Given the description of an element on the screen output the (x, y) to click on. 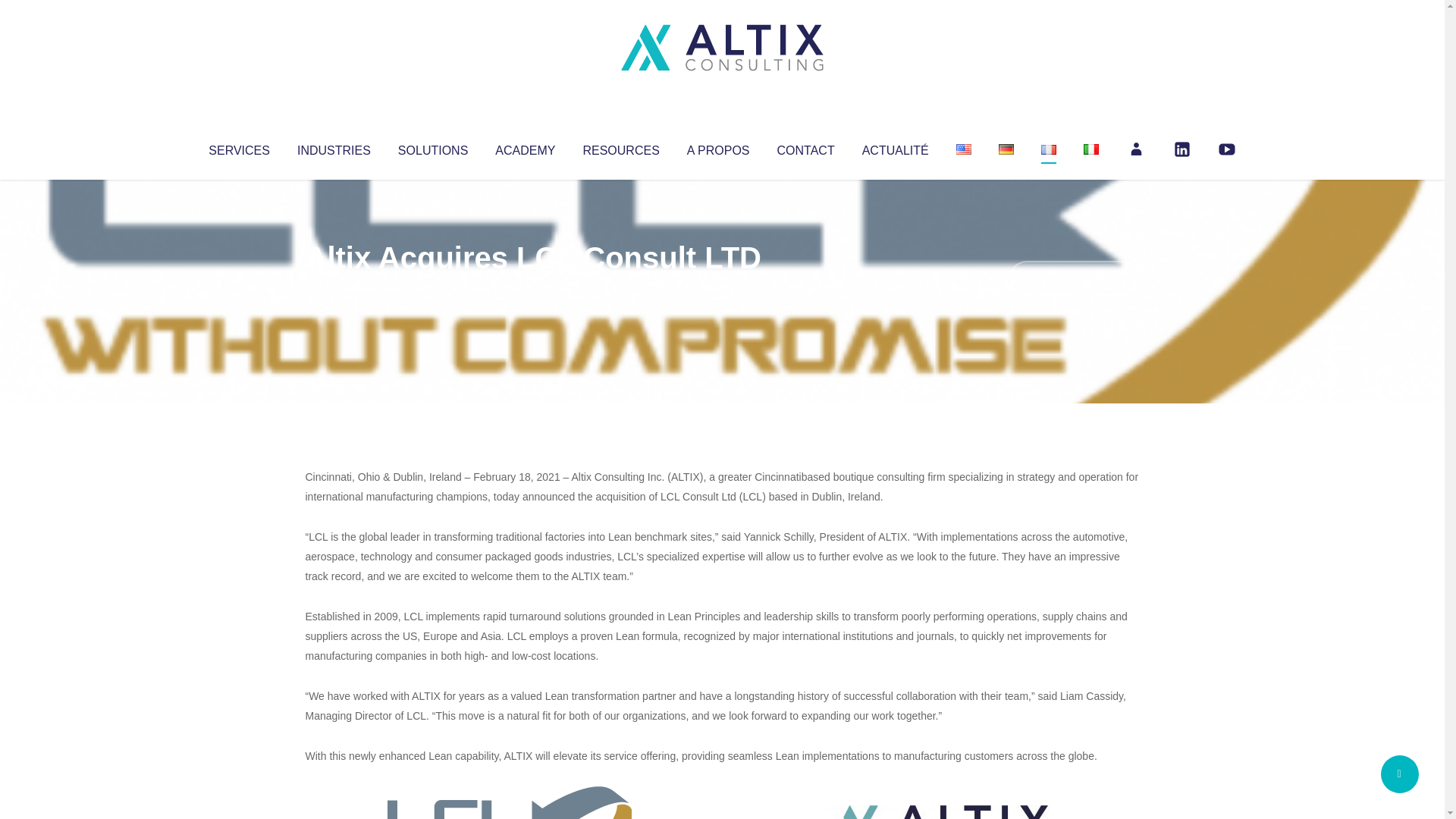
Uncategorized (530, 287)
No Comments (1073, 278)
Altix (333, 287)
INDUSTRIES (334, 146)
RESOURCES (620, 146)
SERVICES (238, 146)
Articles par Altix (333, 287)
ACADEMY (524, 146)
A PROPOS (718, 146)
SOLUTIONS (432, 146)
